Given the description of an element on the screen output the (x, y) to click on. 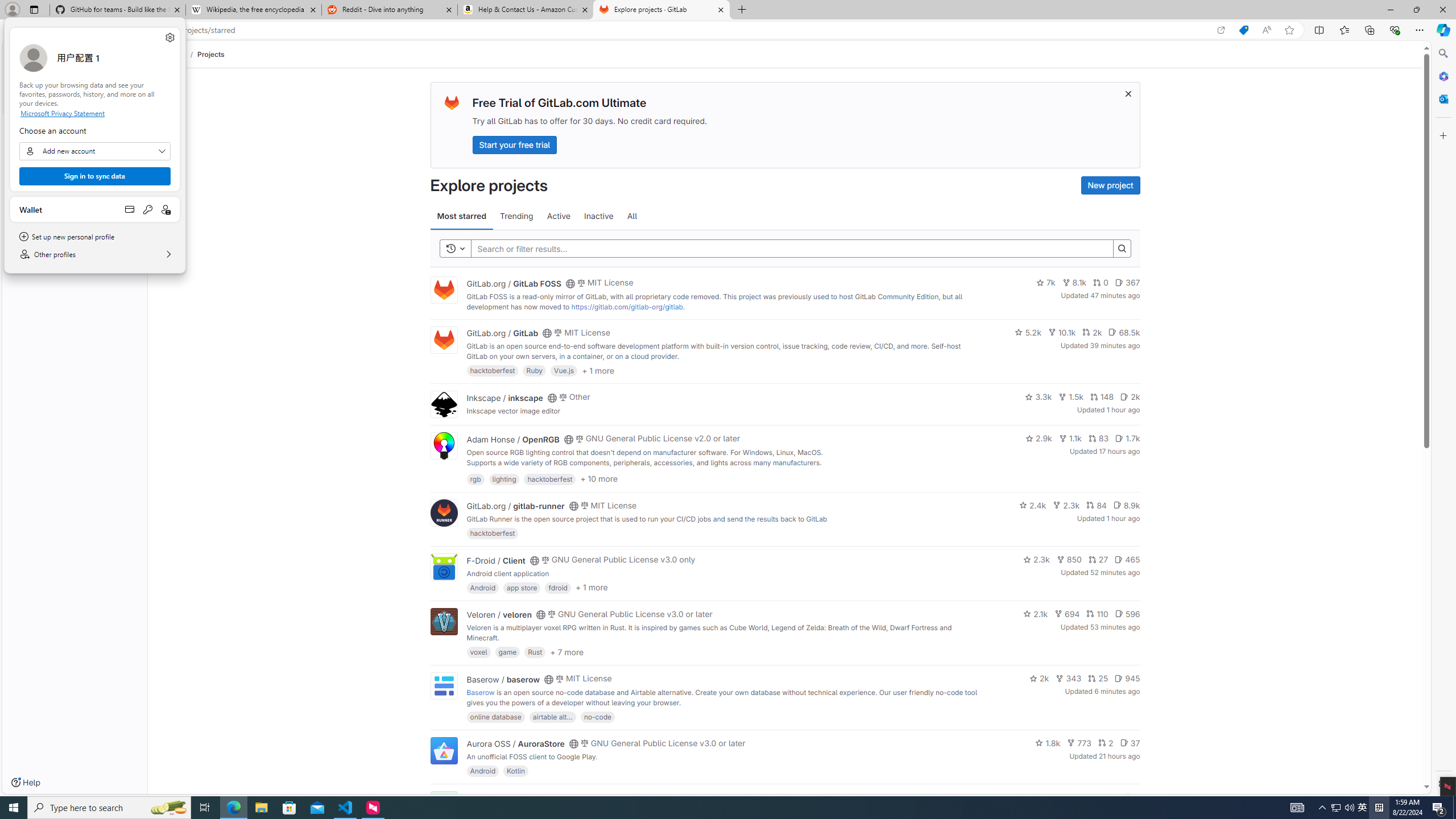
online database (495, 715)
83 (1098, 438)
airtable alt... (552, 715)
GitLab.org / GitLab FOSS (513, 283)
25 (1097, 678)
Start your free trial (514, 144)
GitLab.org / GitLab (501, 333)
no-code (597, 715)
694 (1067, 613)
